Given the description of an element on the screen output the (x, y) to click on. 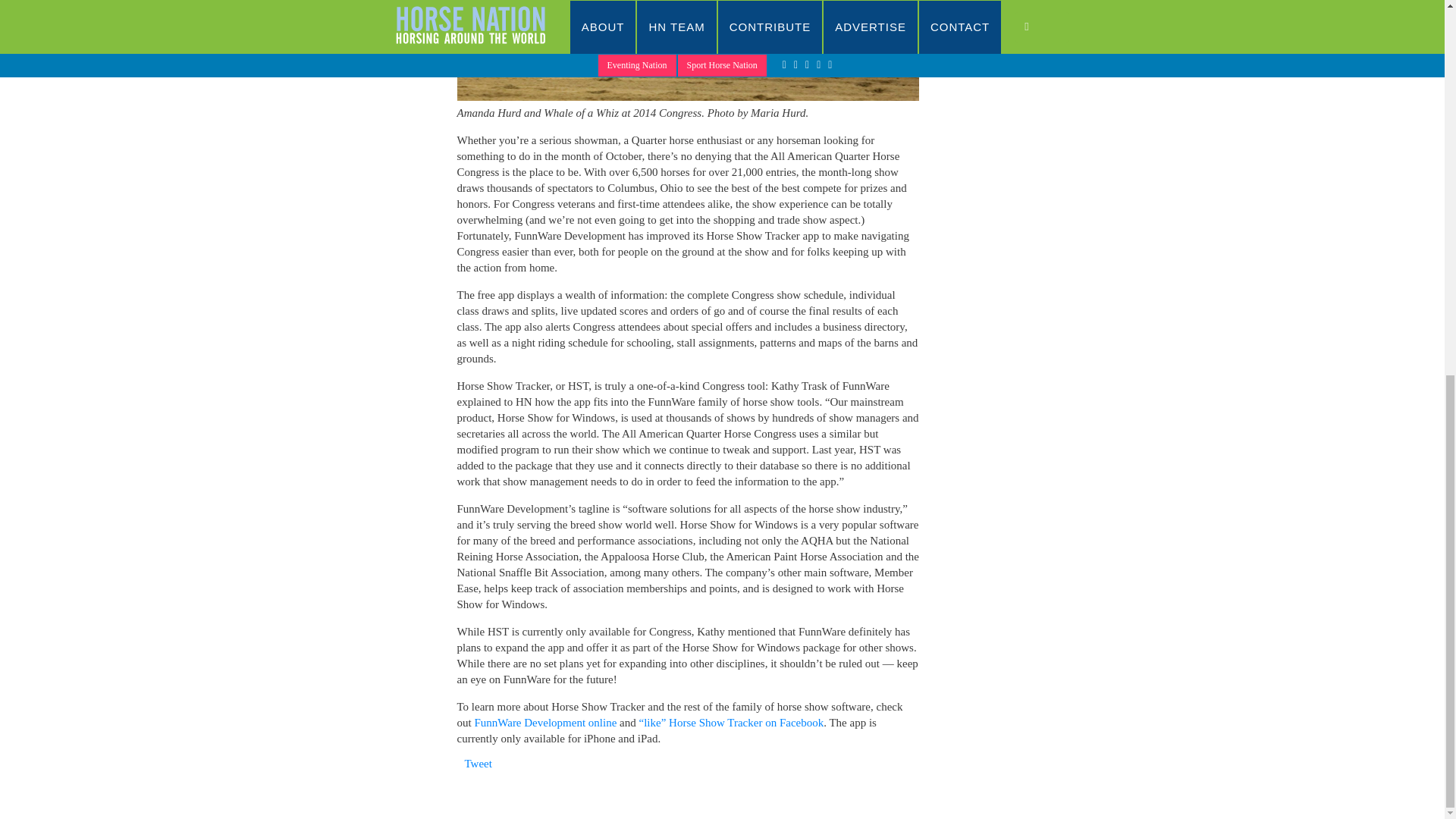
FunnWare Development online (544, 722)
Tweet (478, 763)
